Given the description of an element on the screen output the (x, y) to click on. 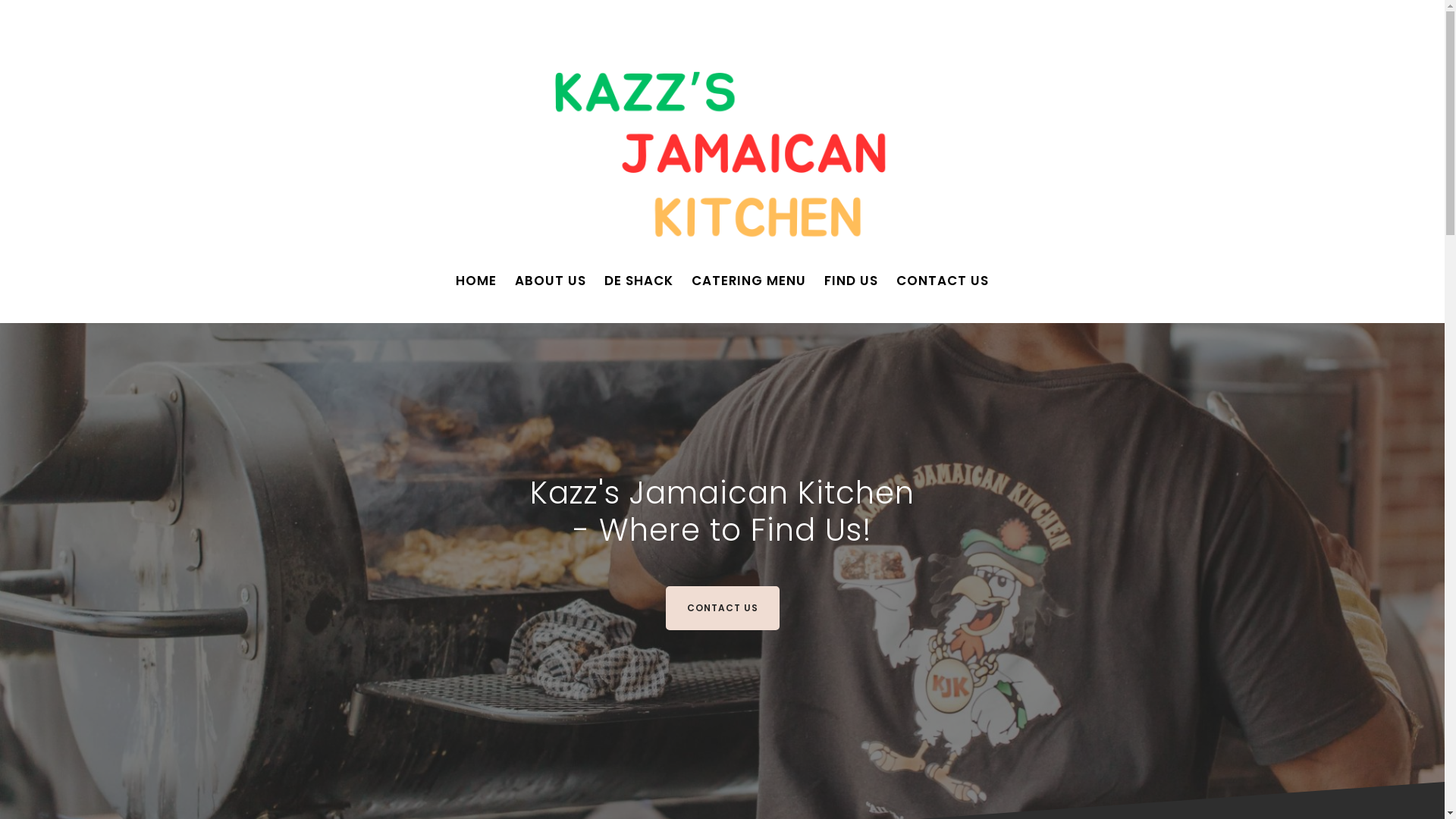
DE SHACK Element type: text (638, 280)
twitter Element type: hover (337, 18)
CONTACT US Element type: text (722, 608)
HOME Element type: text (475, 280)
FIND US Element type: text (851, 280)
facebook Element type: hover (311, 18)
CATERING MENU Element type: text (748, 280)
instagram Element type: hover (363, 18)
CONTACT US Element type: text (942, 280)
ABOUT US Element type: text (550, 280)
